Given the description of an element on the screen output the (x, y) to click on. 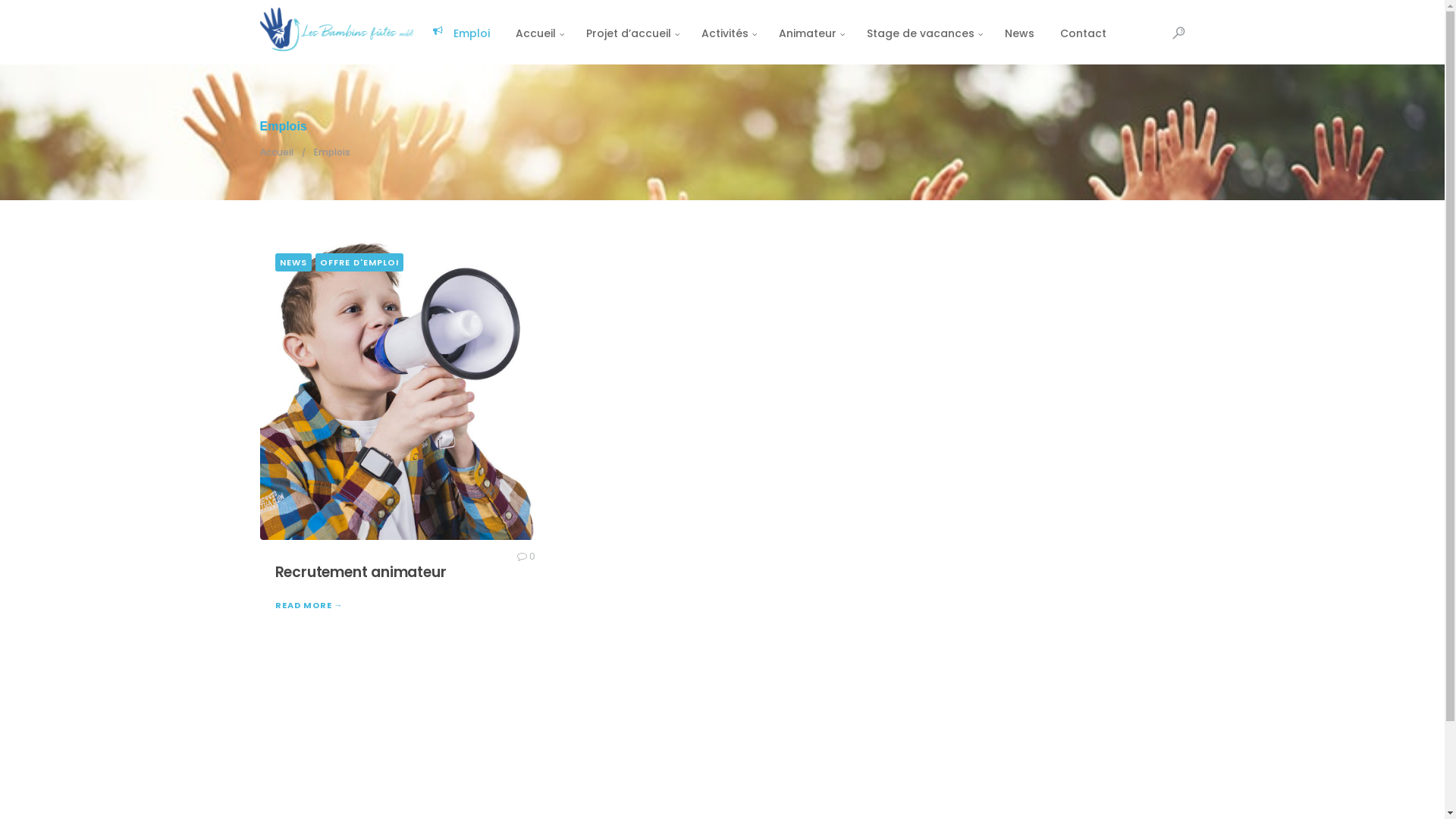
NEWS Element type: text (292, 262)
News Element type: text (1019, 31)
Animateur Element type: text (809, 32)
Search Element type: text (25, 11)
Recrutement animateur Element type: text (359, 571)
Emploi Element type: text (461, 31)
Accueil Element type: text (275, 151)
Recrutement animateur Element type: hover (400, 388)
OFFRE D'EMPLOI Element type: text (359, 262)
Contact Element type: text (1082, 31)
Stage de vacances Element type: text (922, 32)
Accueil Element type: text (537, 32)
